Given the description of an element on the screen output the (x, y) to click on. 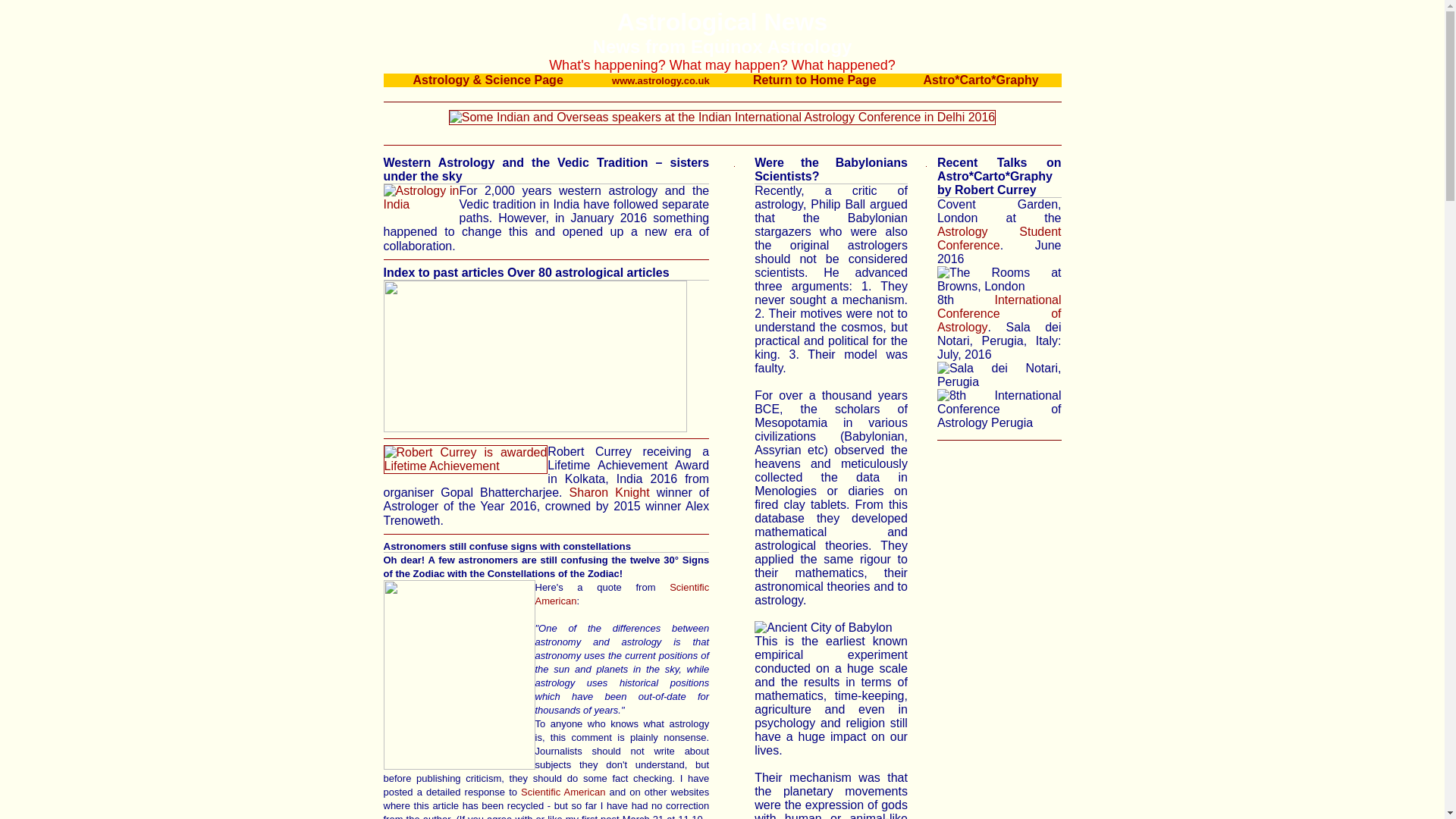
Listings of past articles (547, 279)
Return to Home Page (815, 79)
Scientific American (622, 593)
Scientific American (563, 791)
www.astrology.co.uk (660, 79)
Index to past articles Over 80 astrological articles (547, 279)
Sharon Knight (609, 492)
Robert Currey's Comment (563, 791)
